Given the description of an element on the screen output the (x, y) to click on. 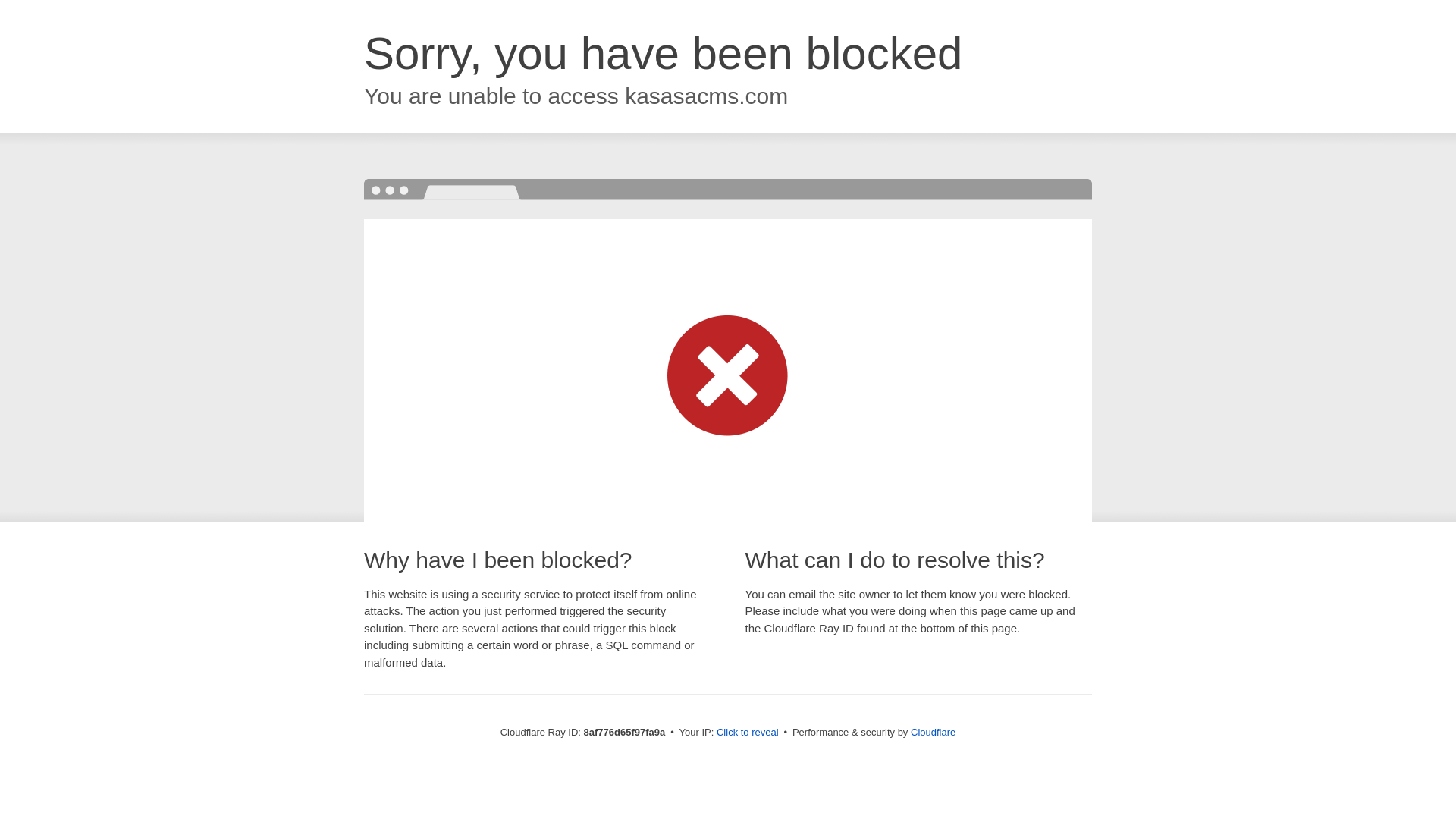
Click to reveal (747, 732)
Cloudflare (933, 731)
